Given the description of an element on the screen output the (x, y) to click on. 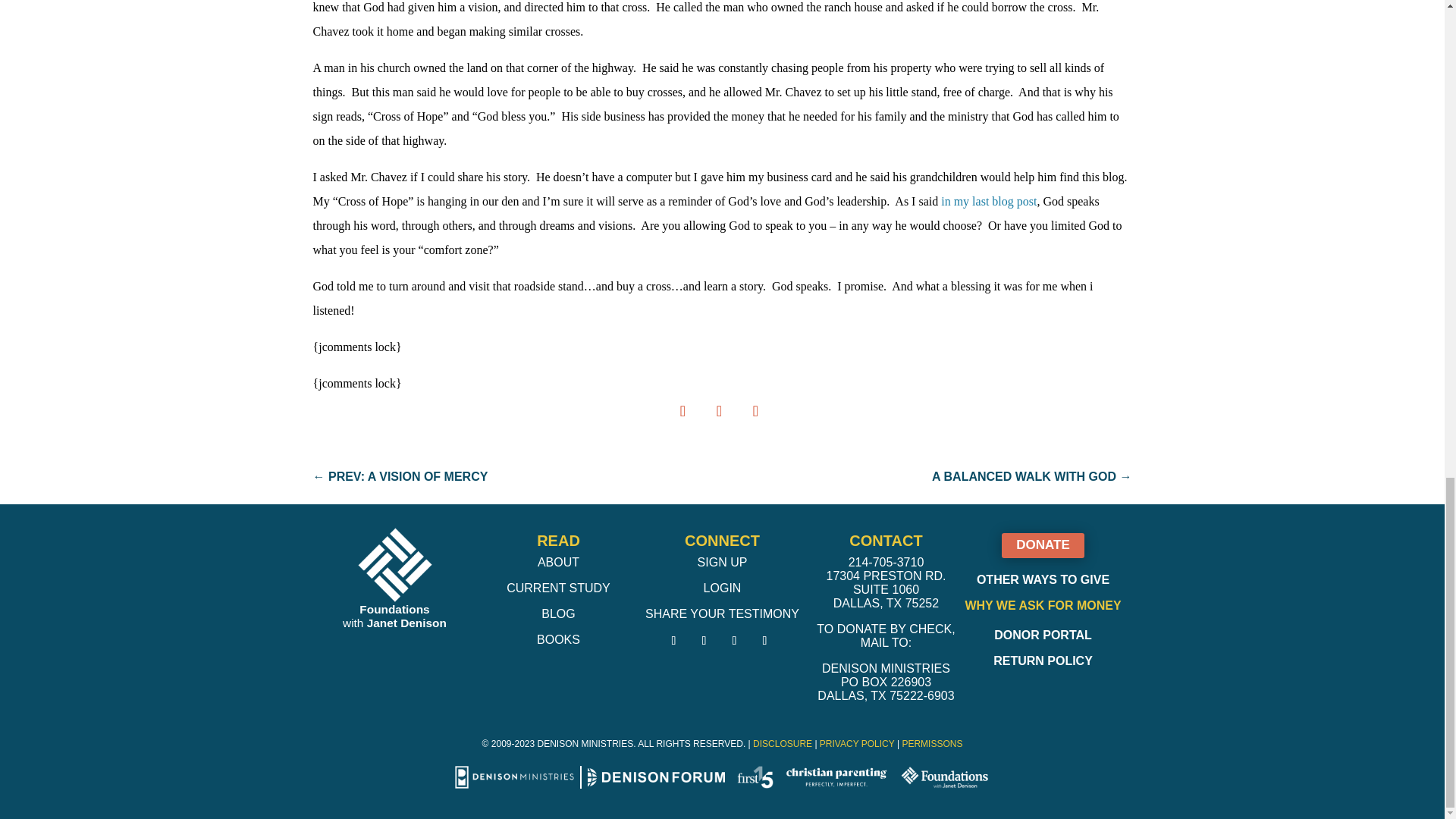
A Vision of Mercy by Janet Denison (988, 201)
Follow on X (703, 640)
Follow on Youtube (764, 640)
DM-Logo-Horizontal-white (513, 776)
in my last blog post (988, 201)
FJD-Icon-Digital-White (394, 564)
Follow on Instagram (733, 640)
Follow on Facebook (673, 640)
Content Usage Policy (931, 743)
